Given the description of an element on the screen output the (x, y) to click on. 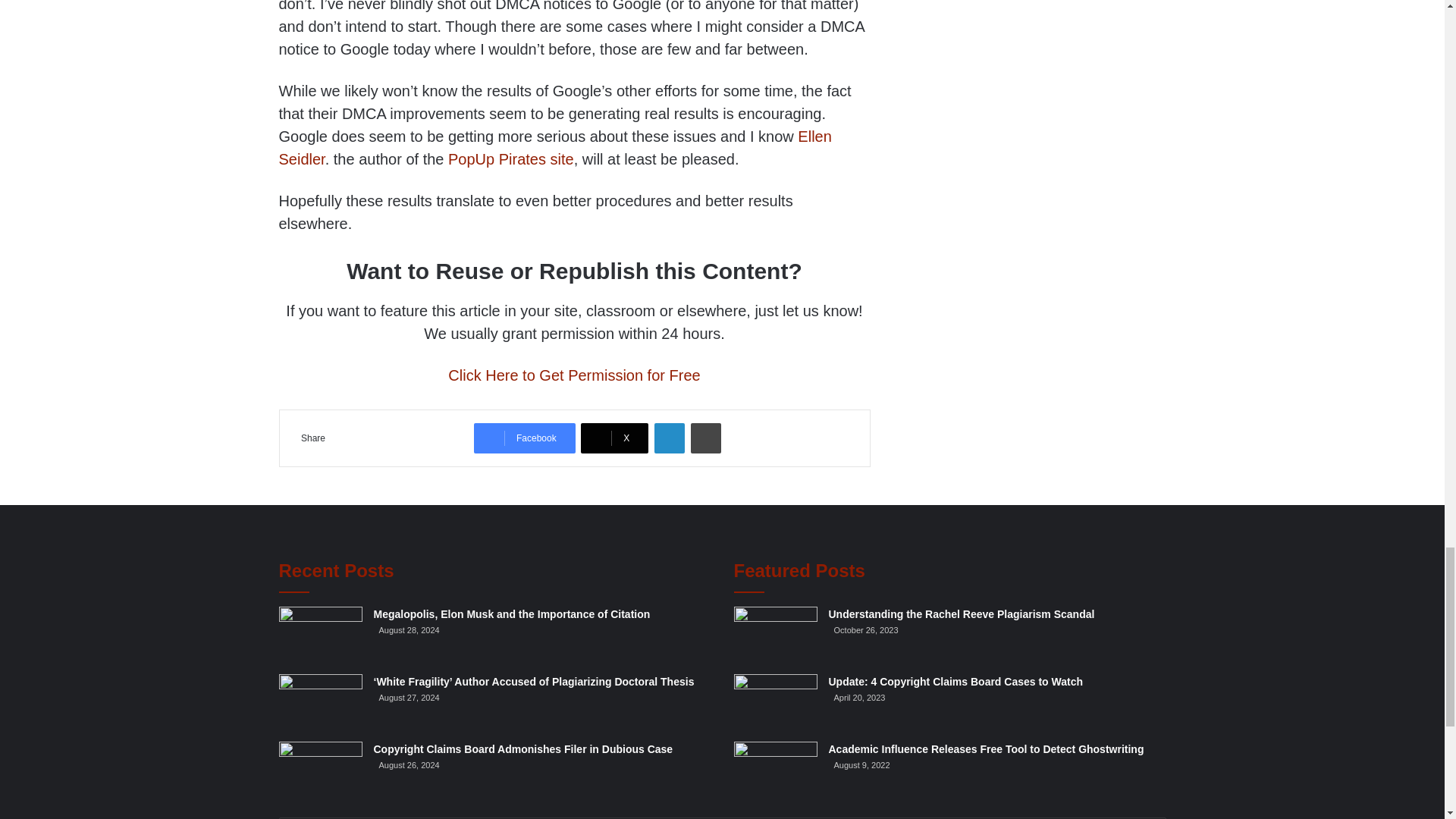
Facebook (524, 438)
X (613, 438)
LinkedIn (668, 438)
Print (705, 438)
PopUp Pirates site (510, 158)
Ellen Seidler (555, 147)
